Given the description of an element on the screen output the (x, y) to click on. 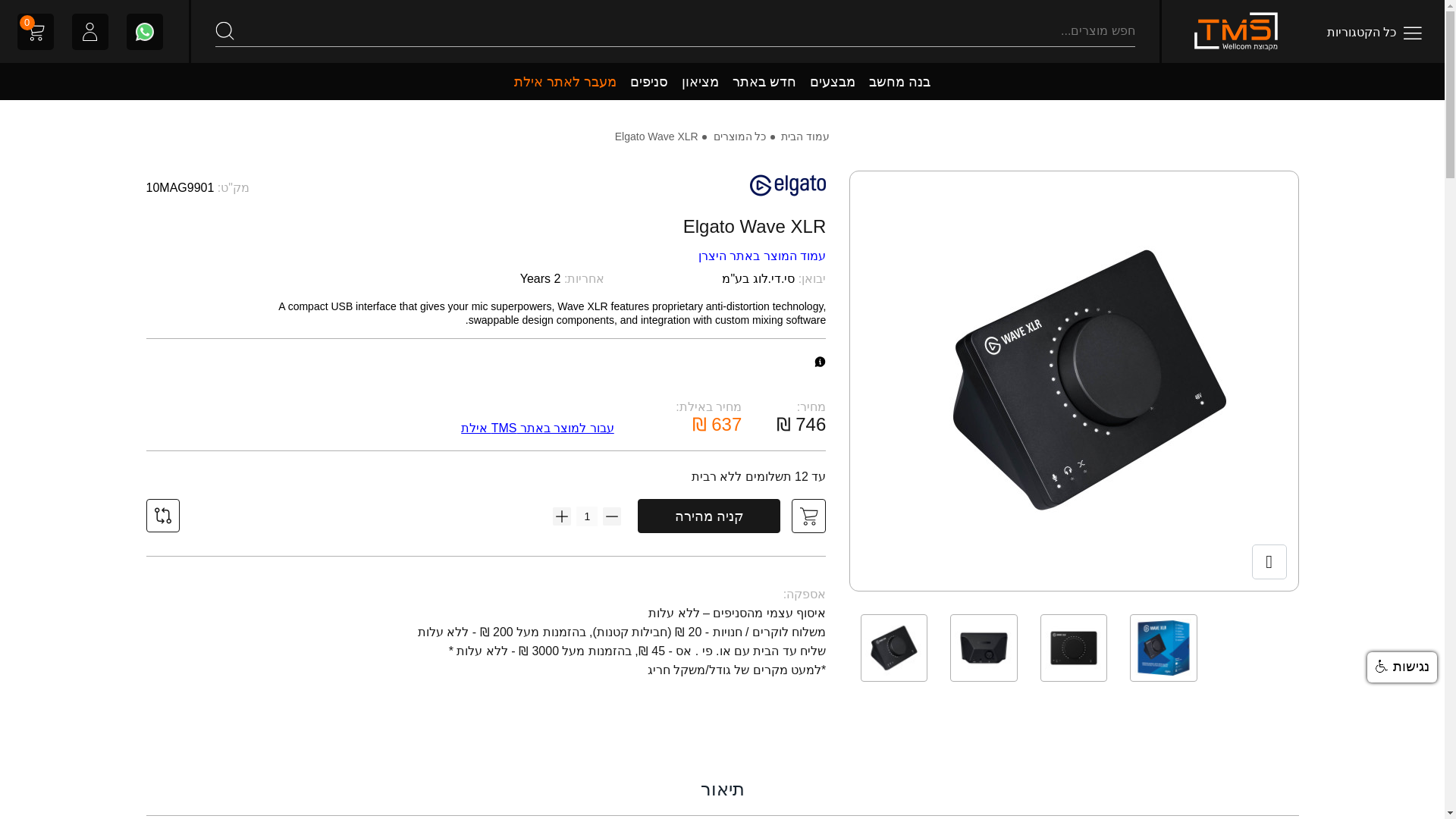
1 (586, 516)
